Given the description of an element on the screen output the (x, y) to click on. 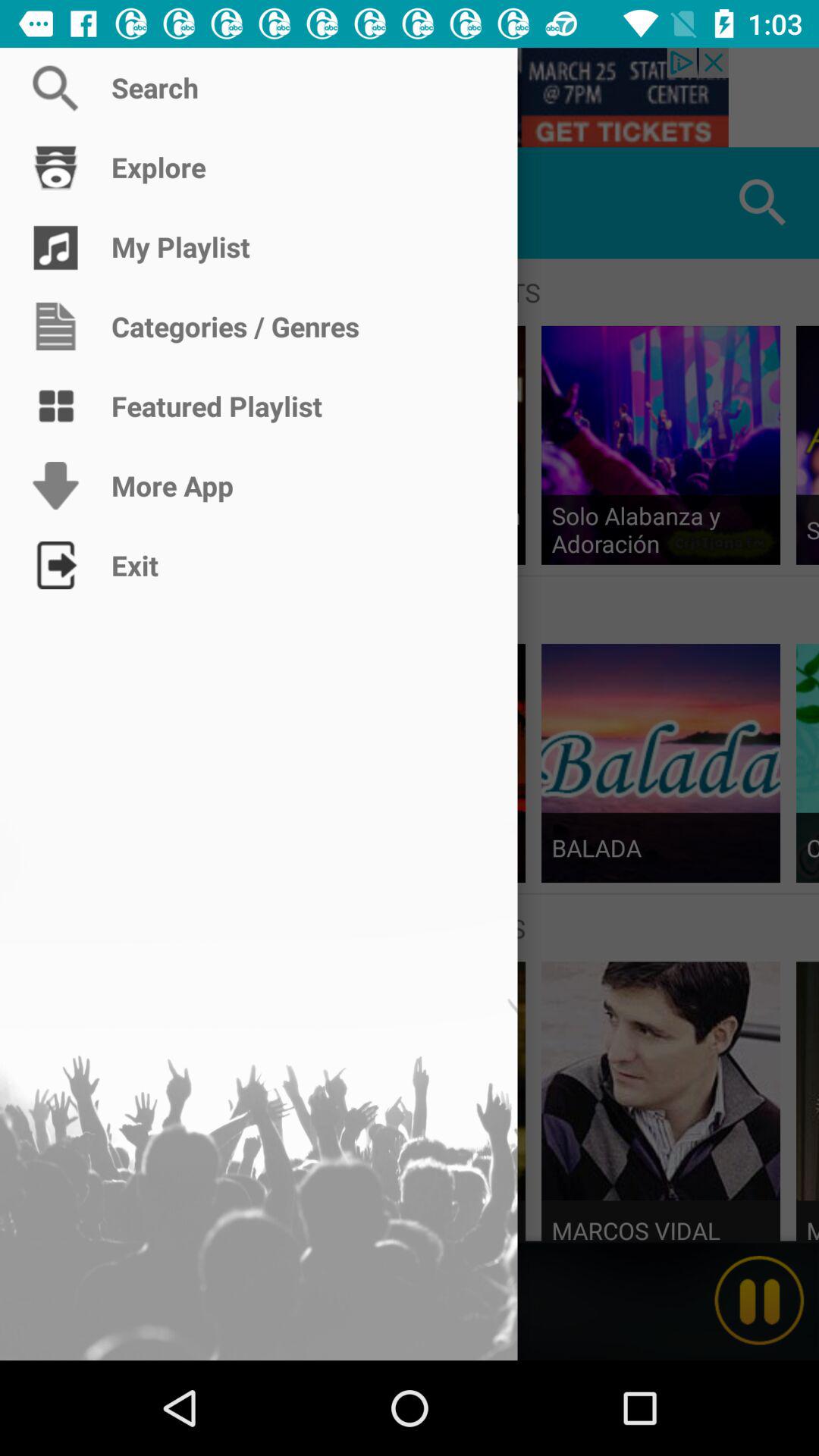
press icon to the left of explore icon (55, 202)
